Given the description of an element on the screen output the (x, y) to click on. 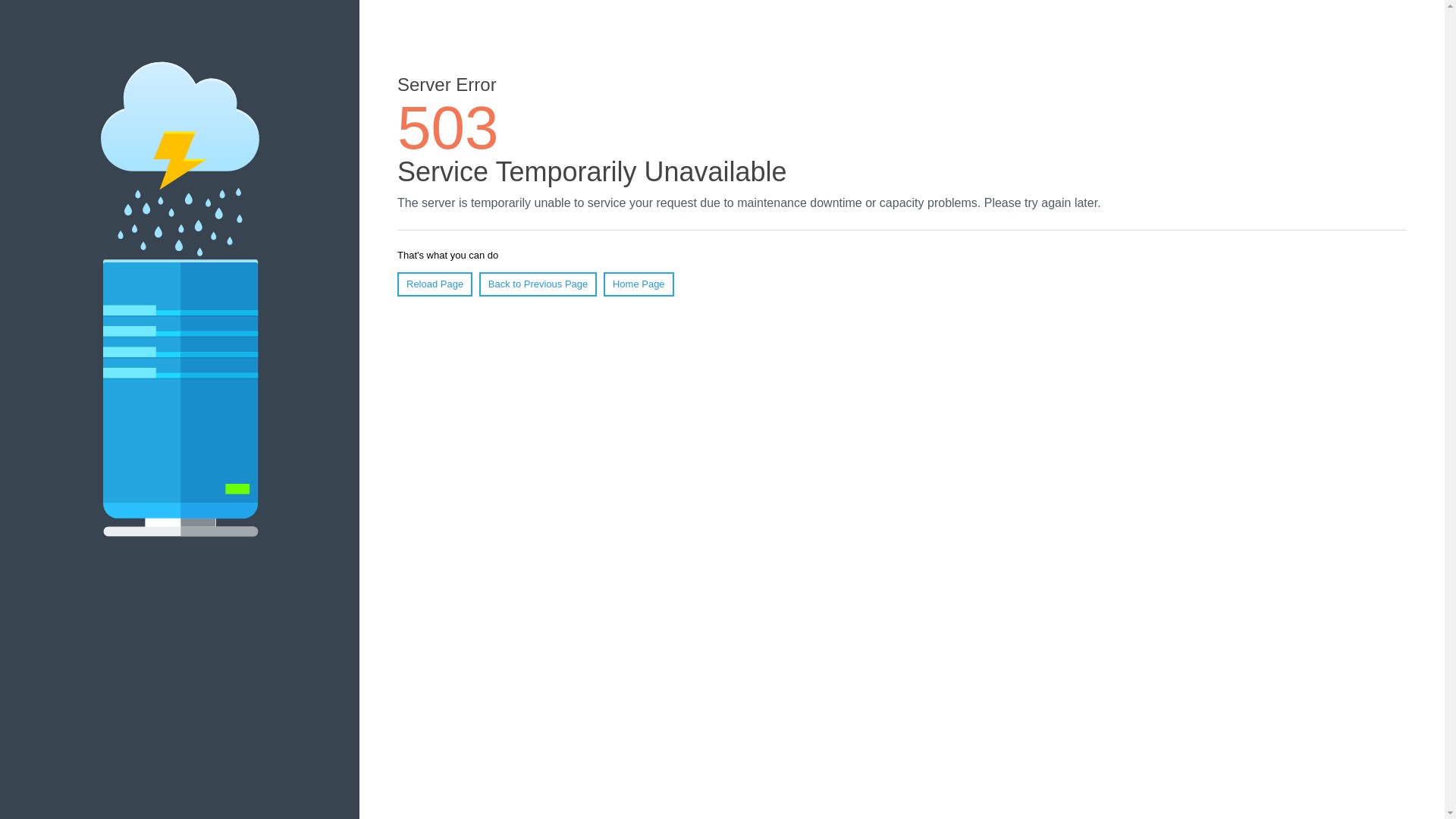
Reload Page (434, 283)
Home Page (639, 283)
Back to Previous Page (537, 283)
